Given the description of an element on the screen output the (x, y) to click on. 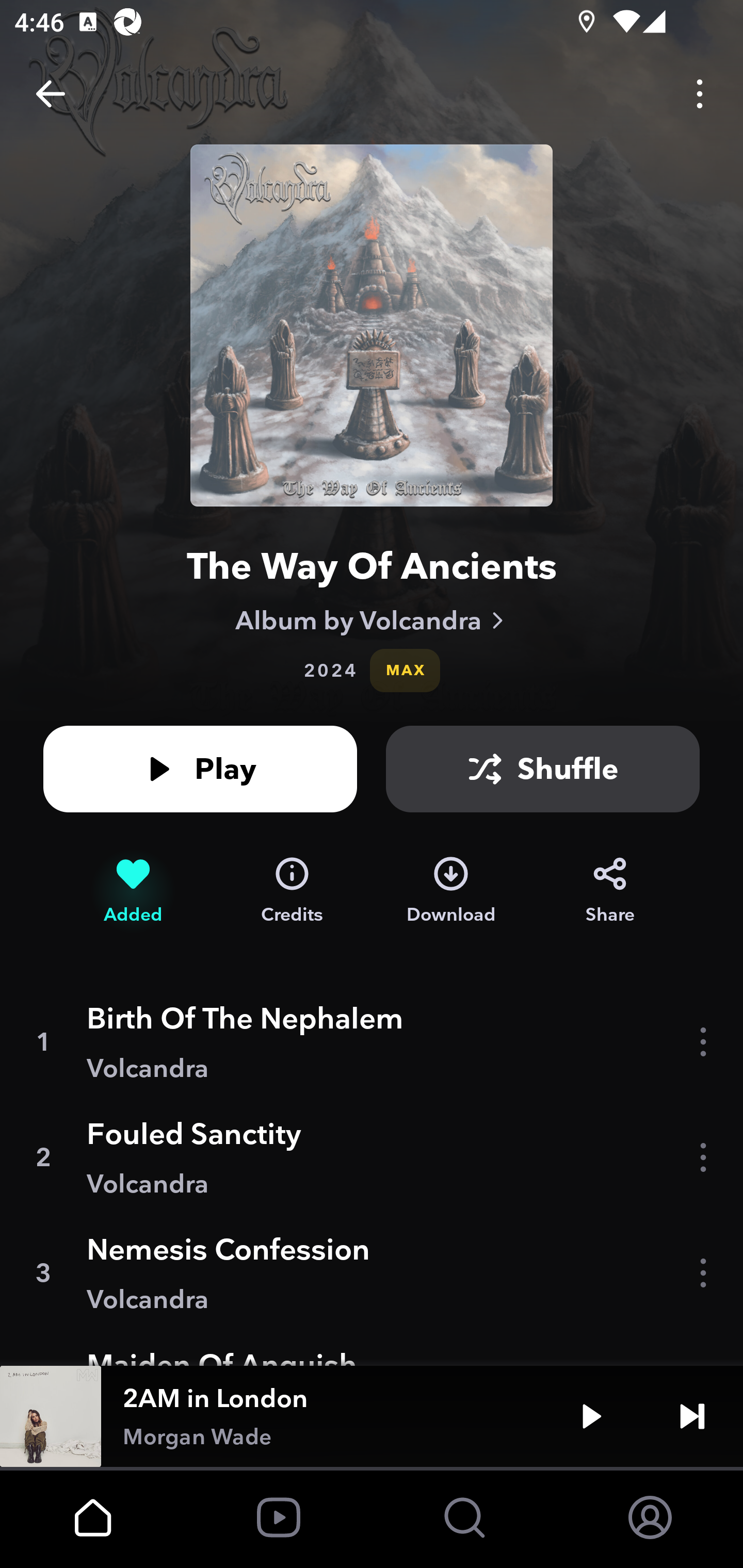
Options (699, 93)
The Way Of Ancients (371, 565)
Album by Volcandra (371, 619)
Play (200, 768)
Shuffle (542, 768)
Remove from My Collection Added (132, 890)
Credits (291, 890)
Download (450, 890)
Share (609, 890)
1 Birth Of The Nephalem Volcandra (371, 1041)
2 Fouled Sanctity Volcandra (371, 1157)
3 Nemesis Confession Volcandra (371, 1273)
2AM in London Morgan Wade Play (371, 1416)
Play (590, 1416)
